Given the description of an element on the screen output the (x, y) to click on. 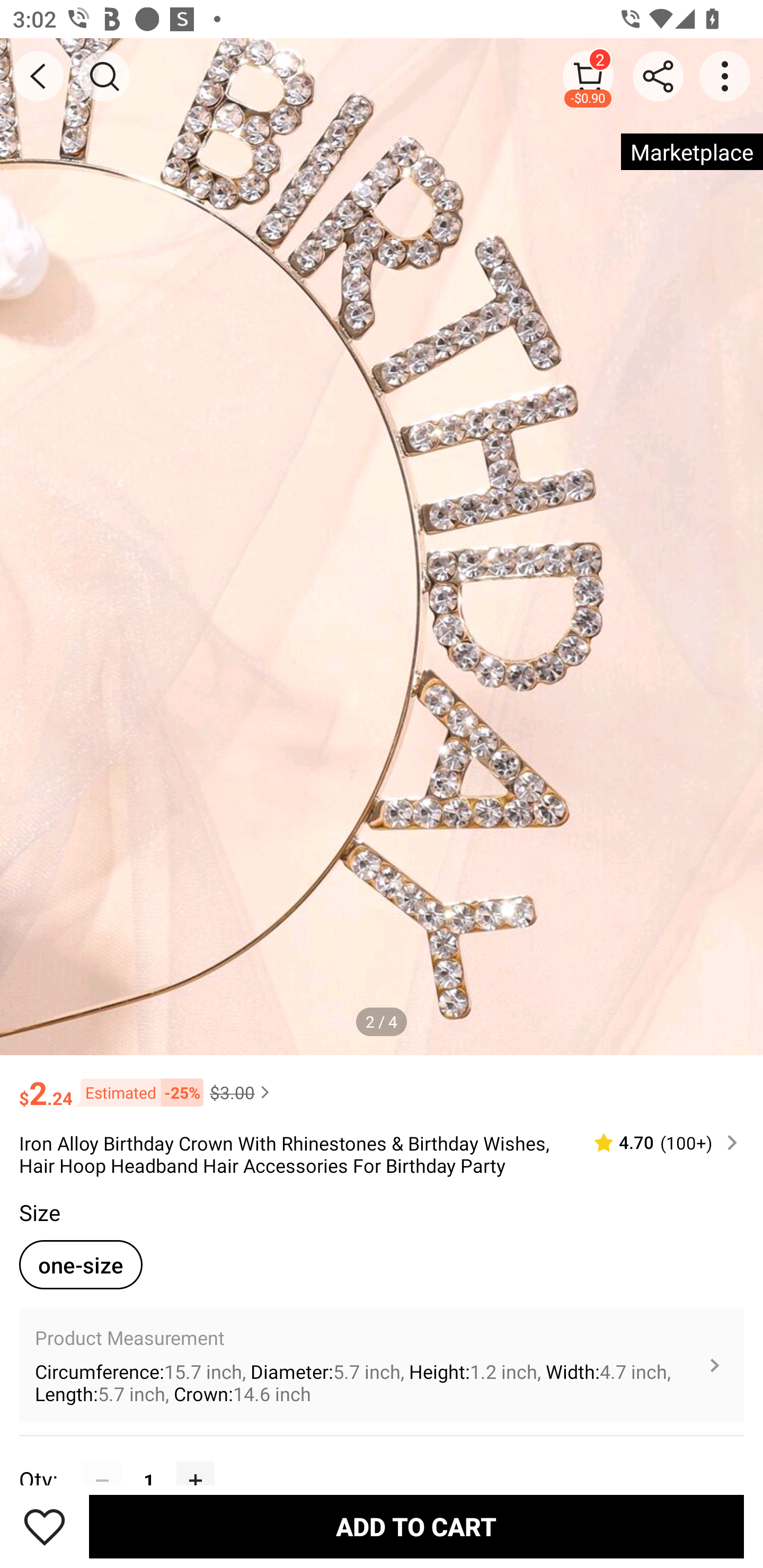
BACK (38, 75)
2 -$0.90 (588, 75)
2 / 4 (381, 1021)
$2.24 Estimated -25% $3.00 (381, 1084)
Estimated -25% (137, 1092)
$3.00 (241, 1091)
4.70 (100‎+) (658, 1142)
Size (39, 1212)
one-size one-sizeselected option (80, 1264)
ADD TO CART (416, 1526)
Save (44, 1526)
